Given the description of an element on the screen output the (x, y) to click on. 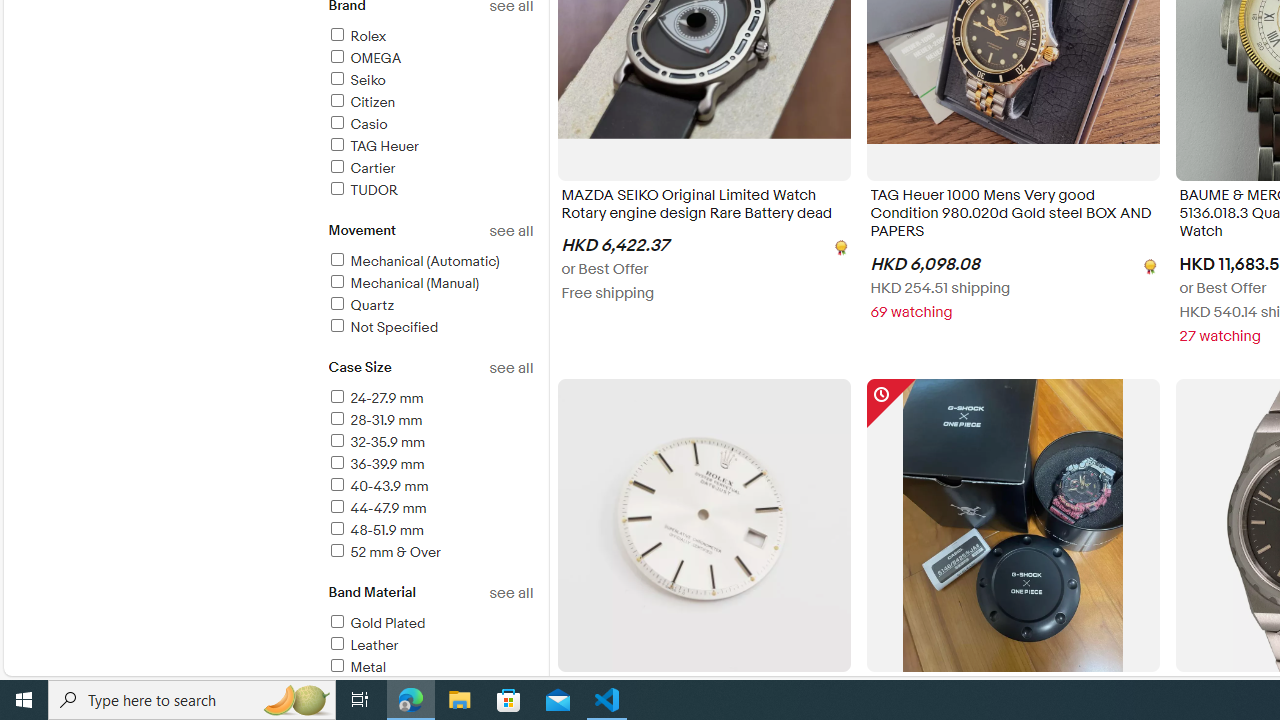
Seiko (356, 80)
Not Specified (430, 327)
Casio (430, 125)
24-27.9 mm (430, 399)
Mechanical (Manual) (403, 283)
48-51.9 mm (374, 530)
24-27.9 mm (374, 398)
36-39.9 mm (375, 464)
See all band material refinements (510, 593)
Leather (362, 645)
48-51.9 mm (430, 531)
OMEGA (430, 59)
Rolex (430, 37)
TUDOR (430, 191)
TAG Heuer (430, 147)
